Given the description of an element on the screen output the (x, y) to click on. 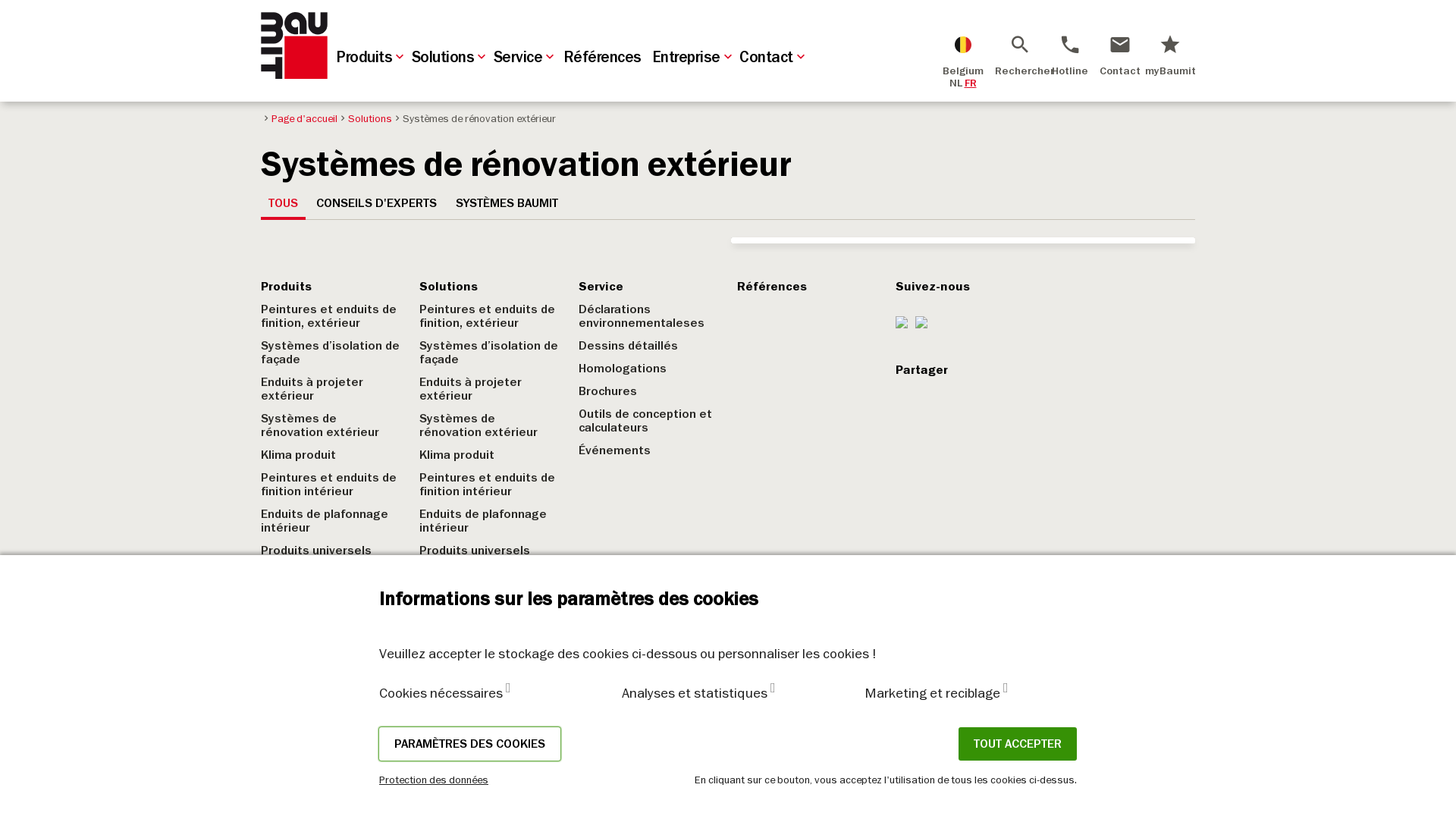
Service Element type: text (524, 56)
Solutions Element type: text (364, 118)
Rechercher Element type: text (1019, 53)
Klima produit Element type: text (297, 454)
Solutions Element type: text (449, 56)
Parc de recherche Viva Element type: text (324, 733)
Histoire Element type: text (283, 665)
Brochures Element type: text (607, 390)
Infos sur Baumit Element type: text (307, 688)
Homologations Element type: text (622, 368)
Gestion Element type: text (283, 642)
Contact Element type: text (773, 56)
Klima produit Element type: text (456, 454)
Produits universels Element type: text (315, 550)
Page d'accueil Element type: text (298, 118)
NL Element type: text (955, 82)
Baumit Element type: hover (293, 45)
Sites Element type: text (434, 665)
Solutions Element type: text (448, 286)
TOUT ACCEPTER Element type: text (1017, 743)
Contactformulier Element type: text (468, 642)
Produits universels Element type: text (474, 550)
Entreprise Element type: text (693, 56)
Vision Element type: text (277, 619)
Contact Element type: text (1120, 53)
Produits Element type: text (285, 286)
Entreprise Element type: text (291, 597)
Belgium Element type: text (962, 53)
International Element type: text (455, 688)
Outils de conception et calculateurs Element type: text (645, 420)
Rechercher Element type: hover (1019, 44)
Baumit contact Element type: text (462, 619)
Hotline Element type: text (1069, 53)
Contact Element type: text (443, 597)
FR Element type: text (970, 82)
Service Element type: text (600, 286)
myBaumit Element type: text (1170, 53)
star_border Element type: text (963, 239)
Produits Element type: text (371, 56)
Baumit news Element type: text (296, 710)
